Given the description of an element on the screen output the (x, y) to click on. 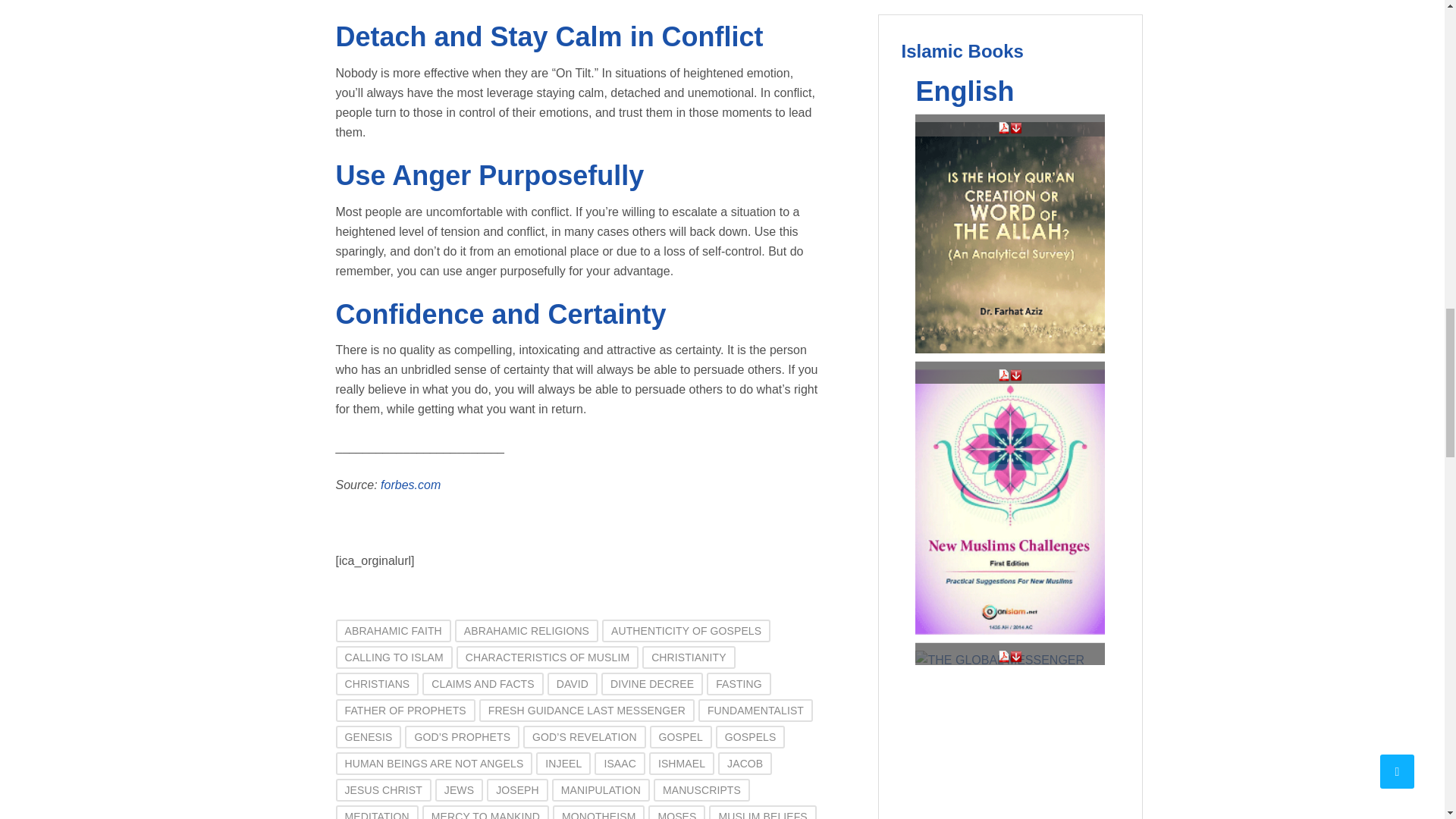
Read New Muslims Challenges (1003, 375)
Download New Muslims Challenges (1016, 375)
